Given the description of an element on the screen output the (x, y) to click on. 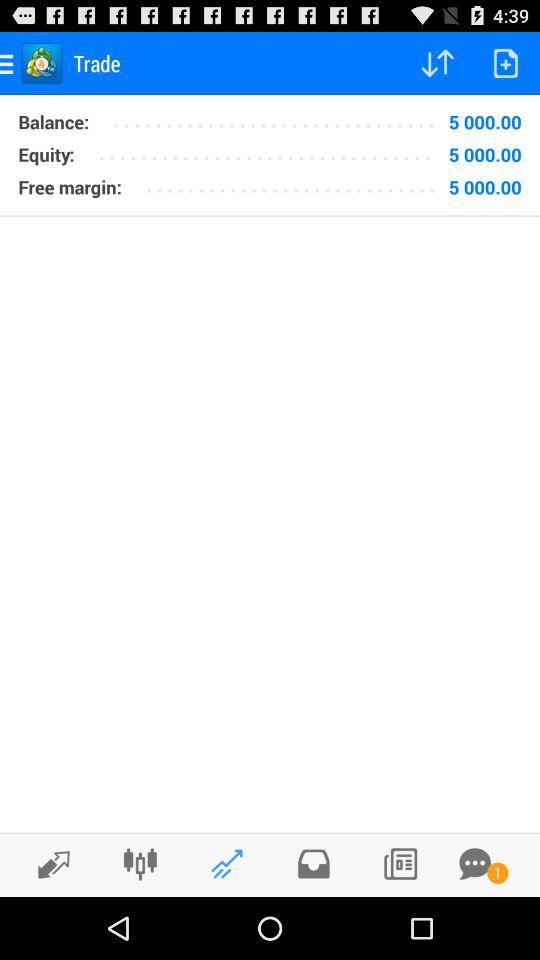
trading ideas (226, 863)
